Given the description of an element on the screen output the (x, y) to click on. 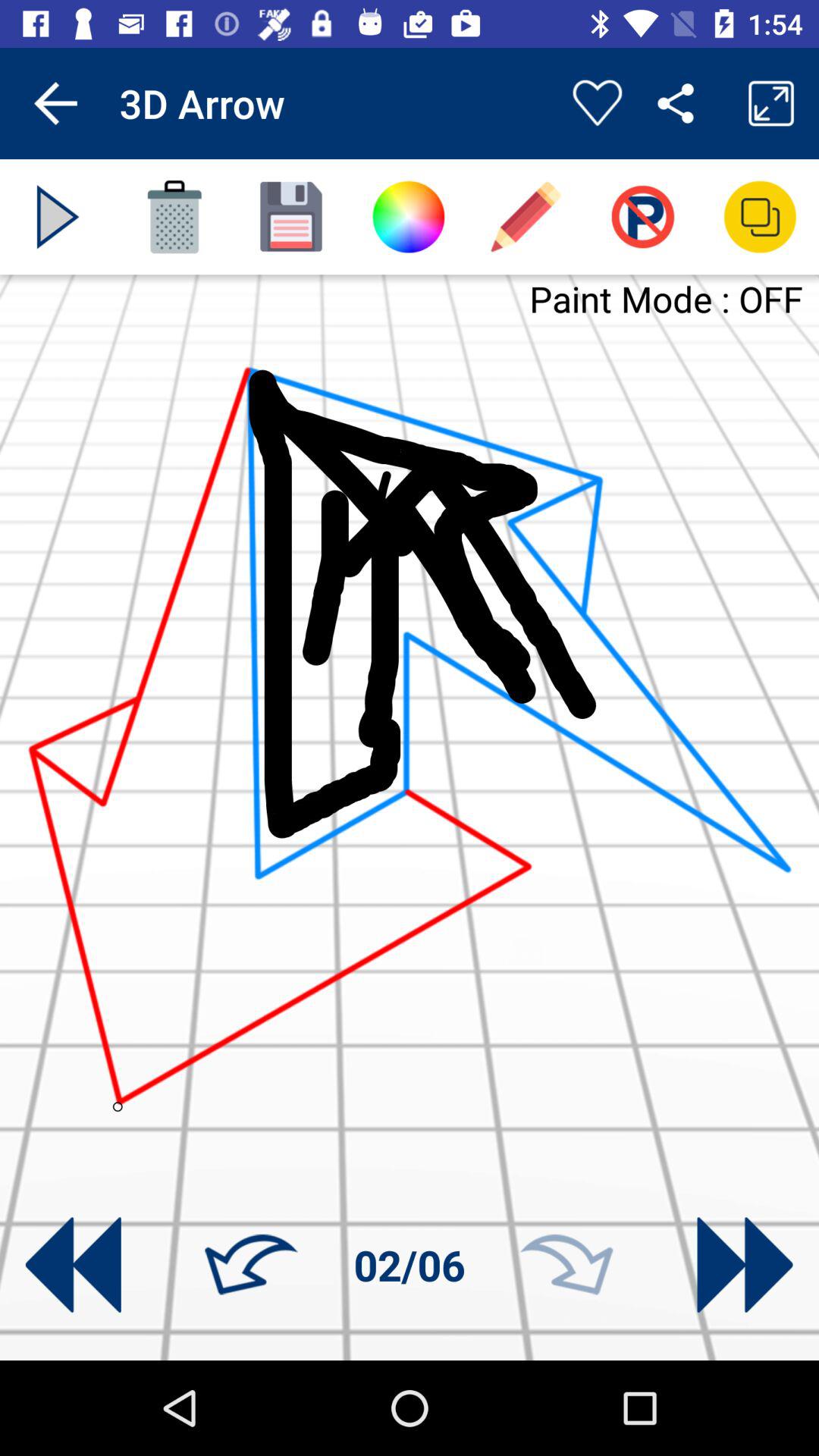
select color (408, 216)
